Given the description of an element on the screen output the (x, y) to click on. 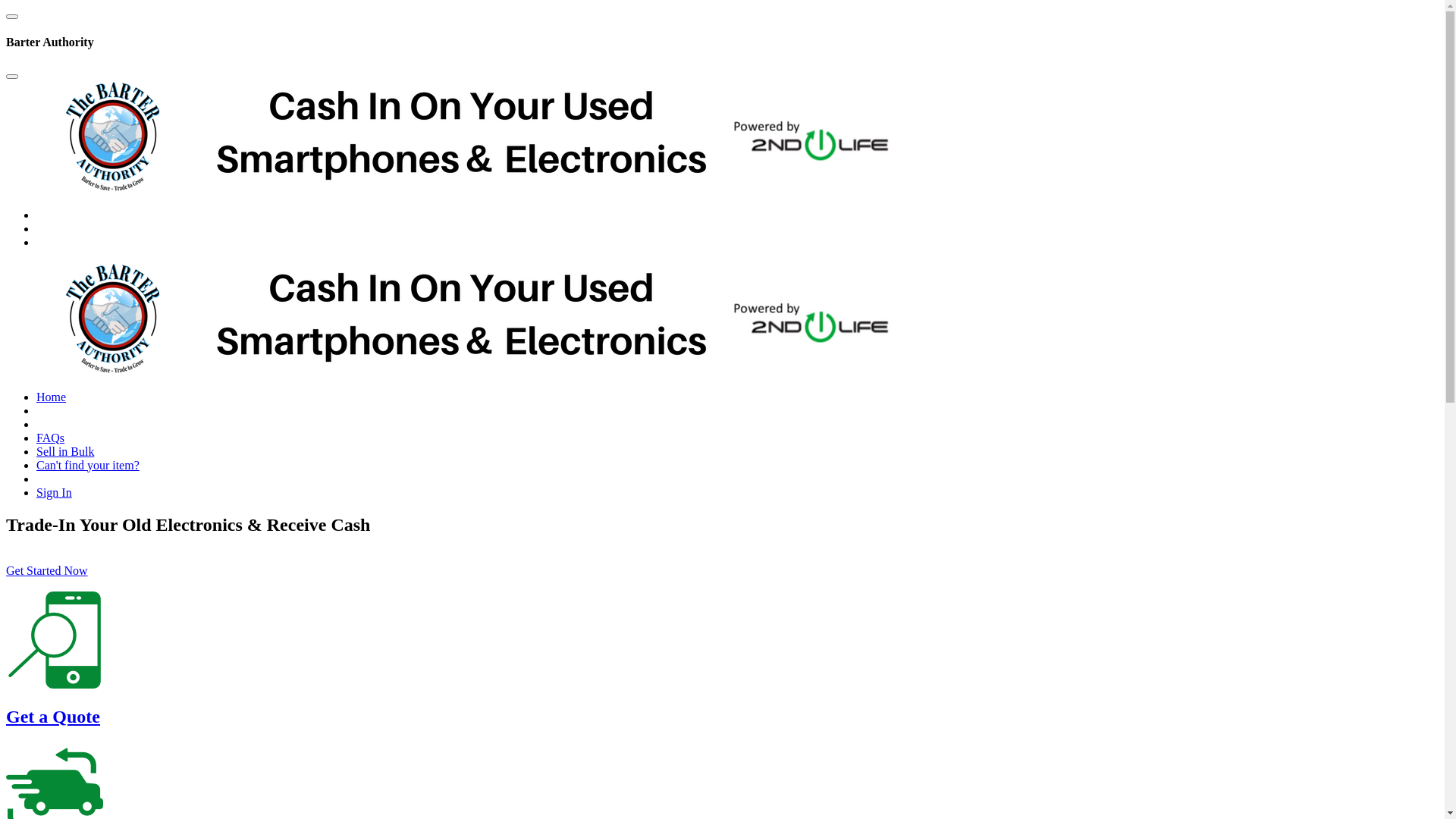
Get a Quote Element type: text (53, 716)
Sell in Bulk Element type: text (65, 451)
Home Element type: text (50, 396)
Can't find your item? Element type: text (87, 464)
Get Started Now Element type: text (46, 570)
FAQs Element type: text (50, 437)
Sign In Element type: text (54, 492)
